Given the description of an element on the screen output the (x, y) to click on. 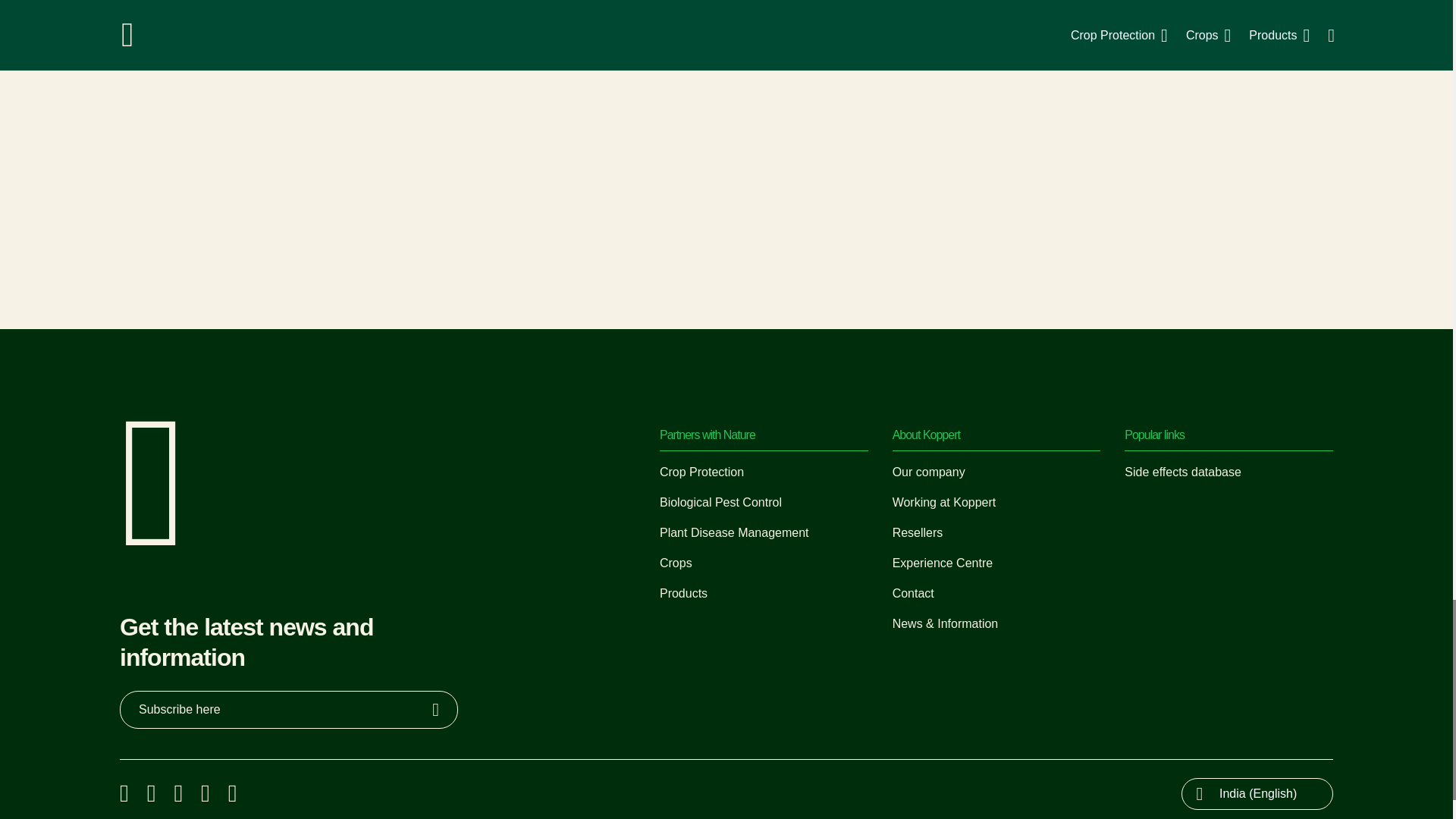
Products (683, 593)
Plant Disease Management (734, 532)
Koppert (153, 540)
Biological Pest Control (720, 502)
Crops (676, 562)
Crop Protection (701, 472)
